Given the description of an element on the screen output the (x, y) to click on. 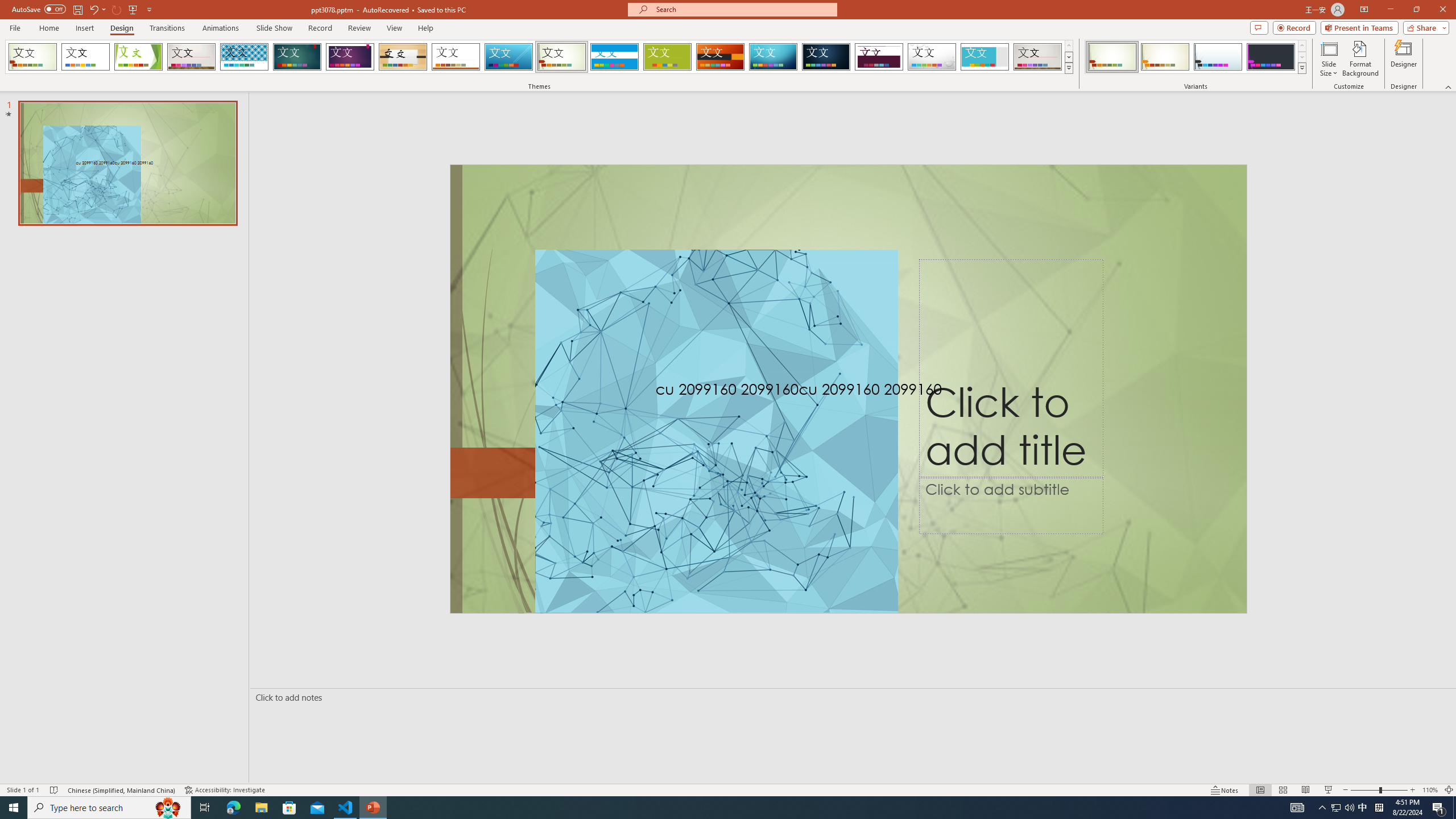
Wisp Variant 4 (1270, 56)
Dividend (879, 56)
Retrospect (455, 56)
Wisp Variant 1 (1112, 56)
Slice (508, 56)
Slide Size (1328, 58)
Wisp Variant 2 (1164, 56)
Berlin (720, 56)
